Given the description of an element on the screen output the (x, y) to click on. 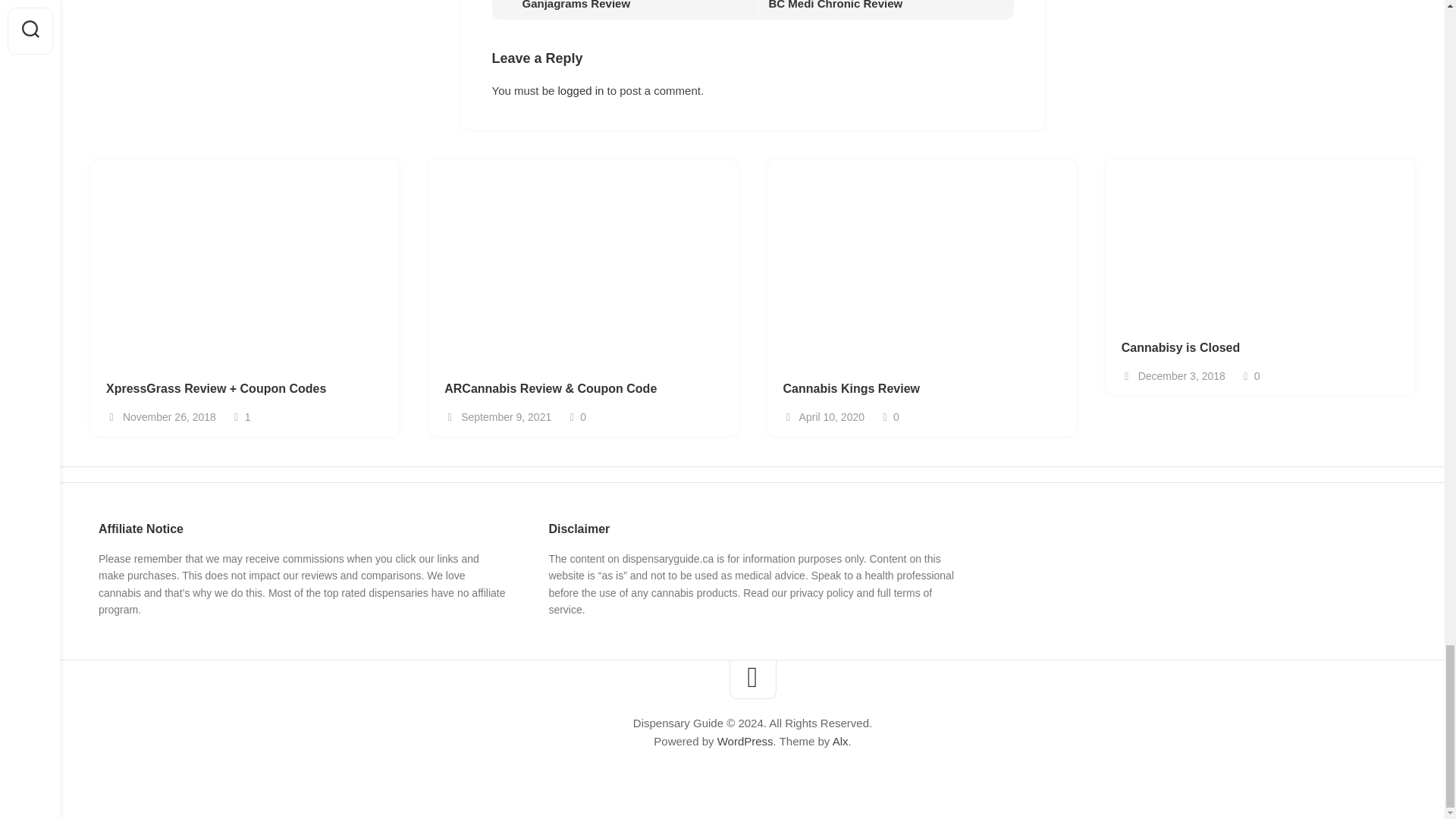
logged in (580, 90)
1 (240, 417)
Cannabis Kings Review (921, 389)
0 (622, 9)
